Given the description of an element on the screen output the (x, y) to click on. 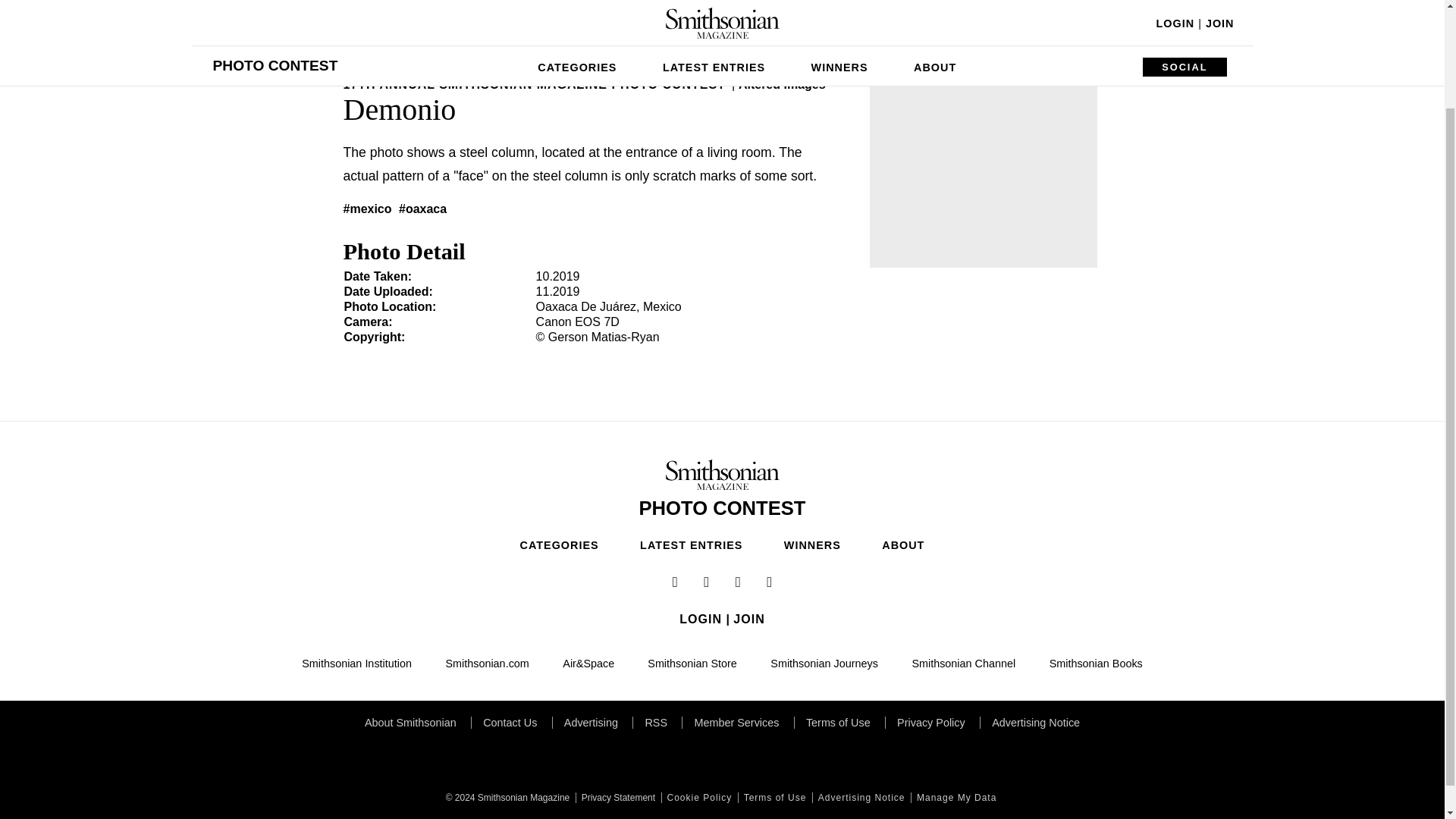
Cookie Policy (698, 797)
Manage My Data (954, 797)
Privacy Statement (616, 797)
Terms of Use (773, 797)
Advertising Notice (859, 797)
